Given the description of an element on the screen output the (x, y) to click on. 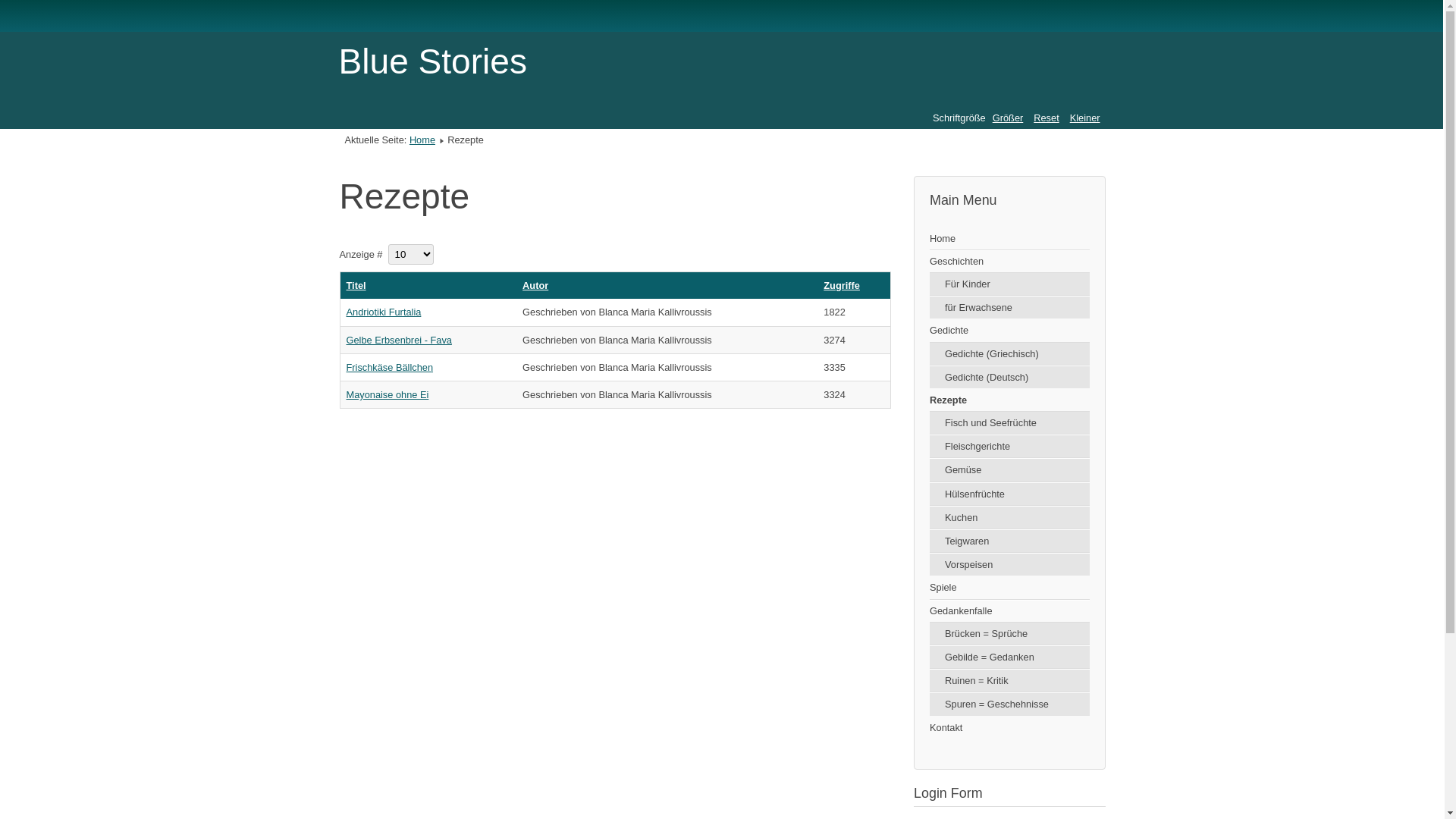
Gelbe Erbsenbrei - Fava Element type: text (398, 339)
Gedankenfalle Element type: text (1009, 610)
Gedichte Element type: text (1009, 330)
Rezepte Element type: text (1009, 400)
Gedichte (Griechisch) Element type: text (1009, 353)
Spiele Element type: text (1009, 587)
Gedichte (Deutsch) Element type: text (1009, 377)
Andriotiki Furtalia Element type: text (382, 311)
Reset Element type: text (1045, 117)
Gebilde = Gedanken Element type: text (1009, 657)
Titel Element type: text (355, 285)
Kleiner Element type: text (1085, 117)
Autor Element type: text (535, 285)
Kuchen Element type: text (1009, 517)
Spuren = Geschehnisse Element type: text (1009, 704)
Home Element type: text (422, 139)
Ruinen = Kritik Element type: text (1009, 680)
Vorspeisen Element type: text (1009, 564)
Zugriffe Element type: text (841, 285)
Kontakt Element type: text (1009, 727)
Teigwaren Element type: text (1009, 541)
Mayonaise ohne Ei Element type: text (386, 394)
Home Element type: text (1009, 238)
Geschichten Element type: text (1009, 261)
Fleischgerichte Element type: text (1009, 446)
